Given the description of an element on the screen output the (x, y) to click on. 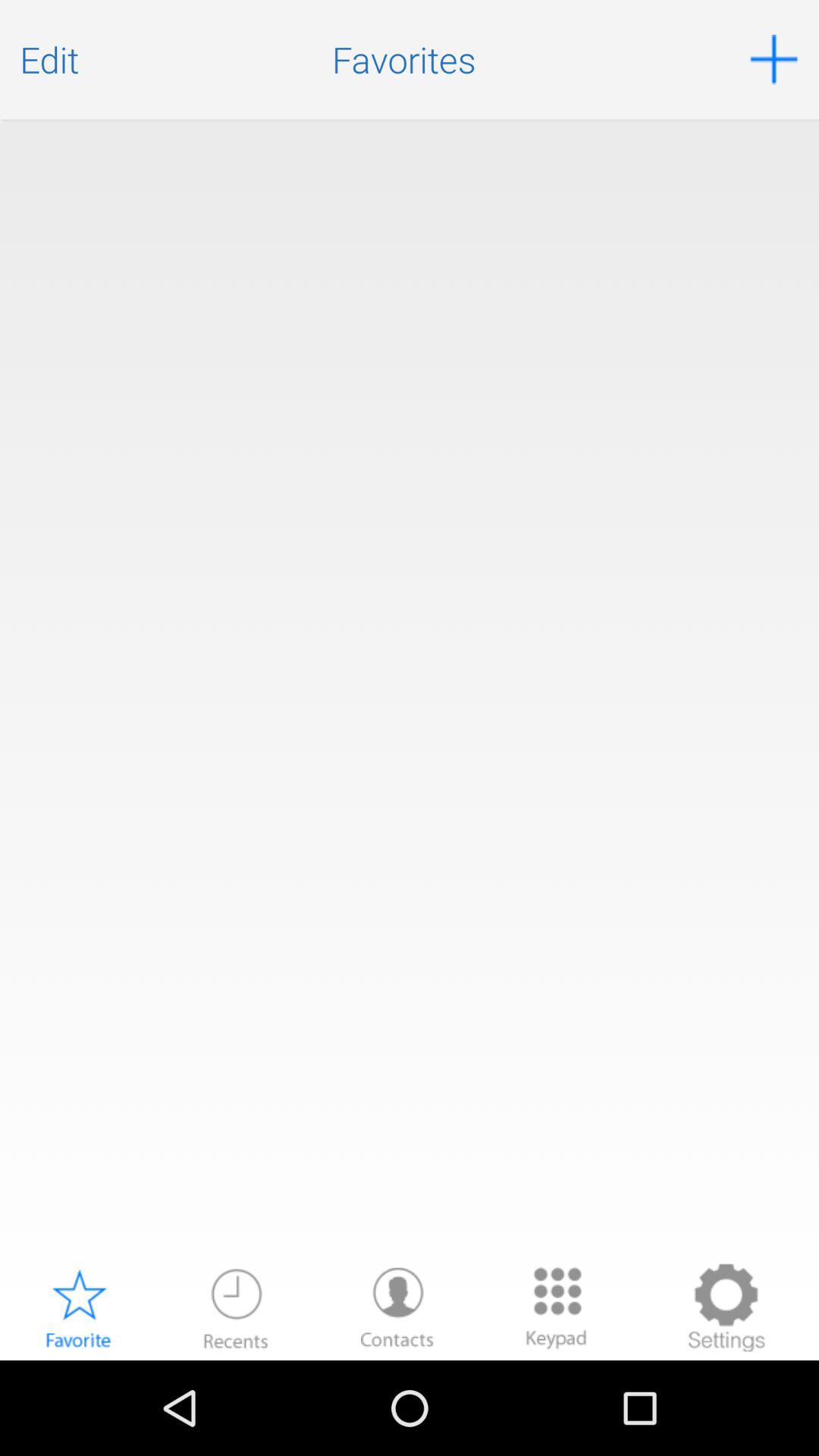
turn on the item at the center (409, 690)
